Given the description of an element on the screen output the (x, y) to click on. 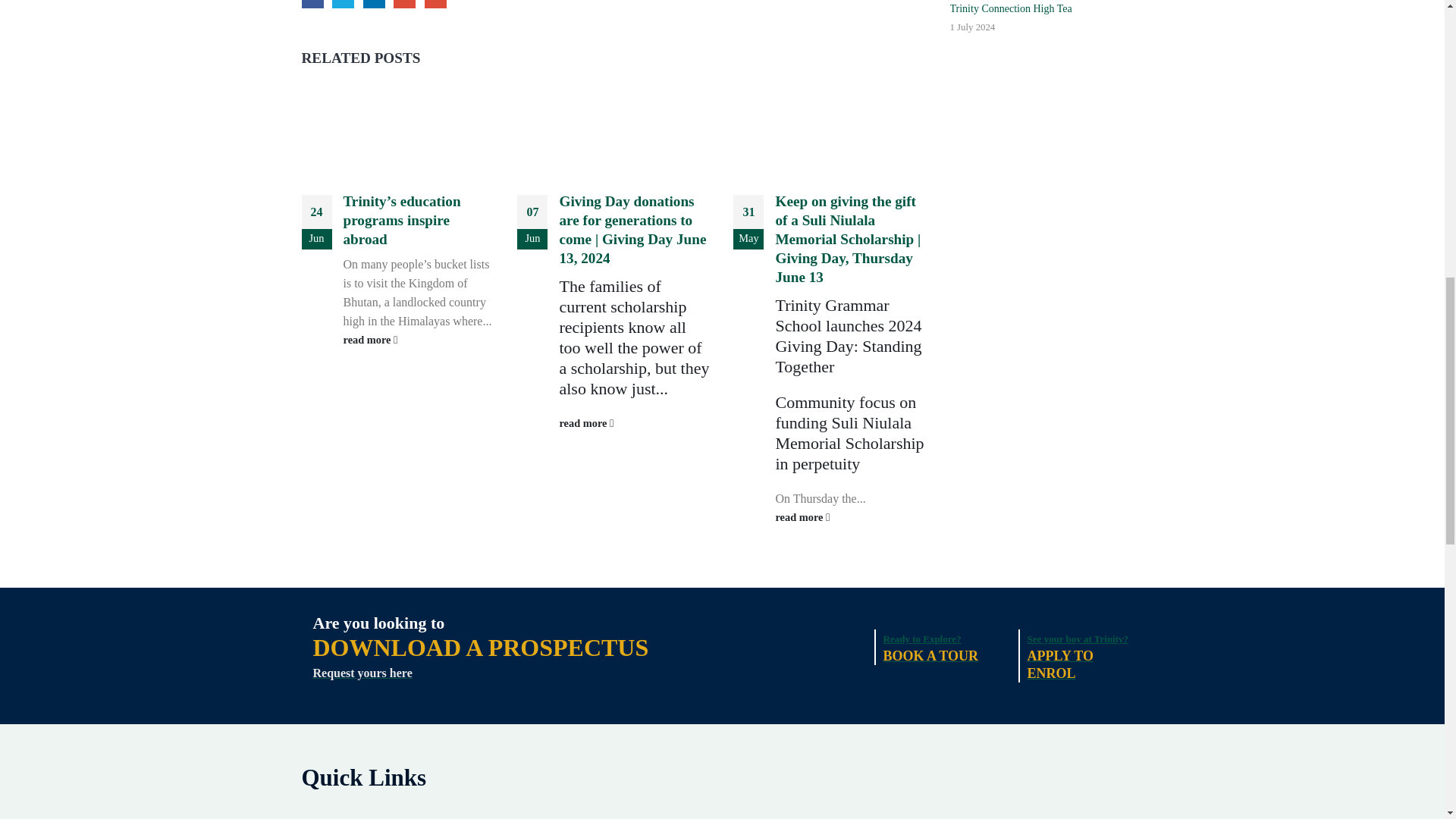
LinkedIn (373, 4)
Facebook (312, 4)
Request a Prospectus (378, 622)
Email (435, 4)
Request a Prospectus (480, 646)
Twitter (342, 4)
